Given the description of an element on the screen output the (x, y) to click on. 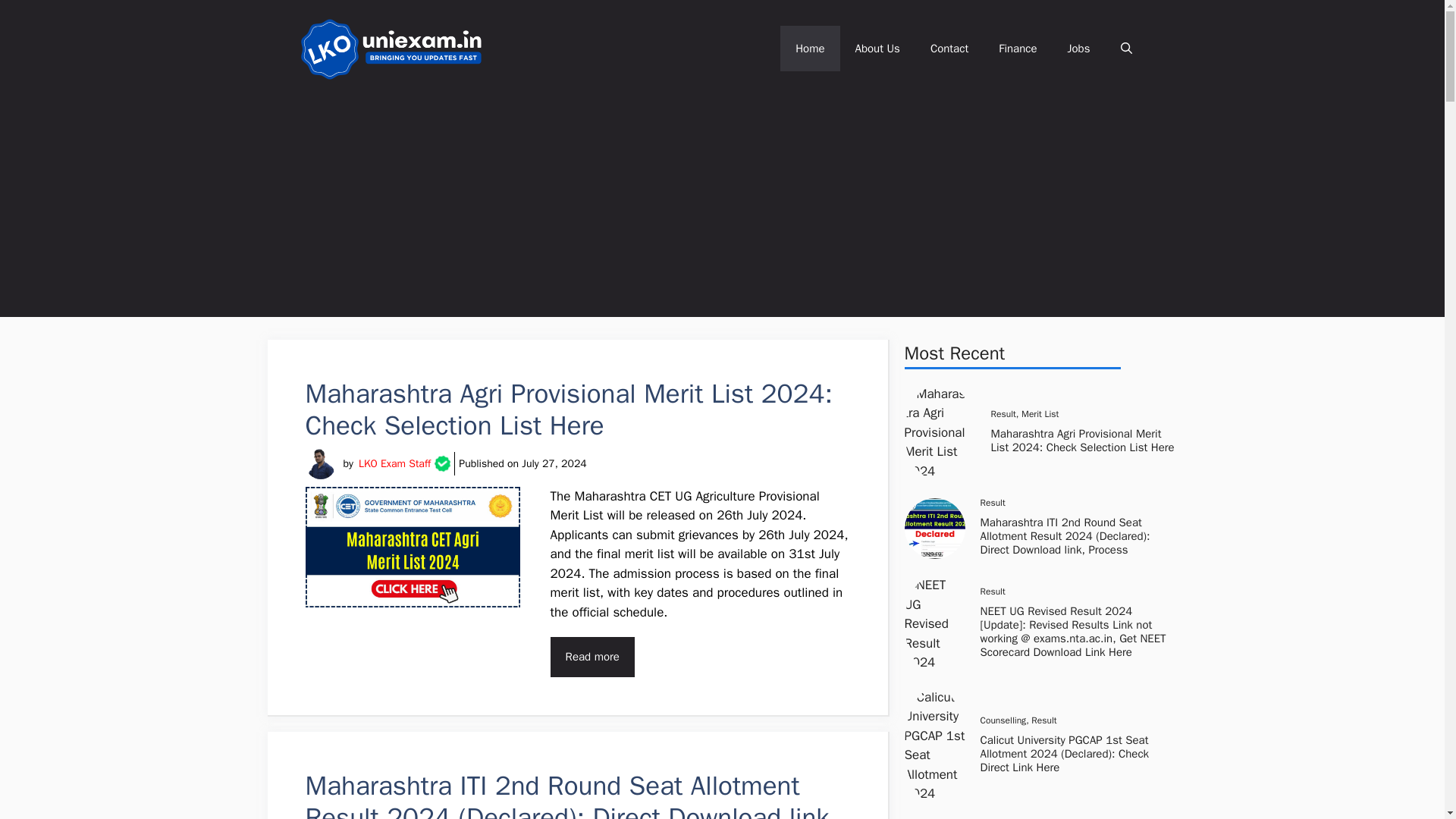
LKO Exam Staff (394, 463)
Jobs (1078, 48)
About Us (877, 48)
Contact (949, 48)
Read more (592, 657)
Home (810, 48)
Finance (1017, 48)
